Given the description of an element on the screen output the (x, y) to click on. 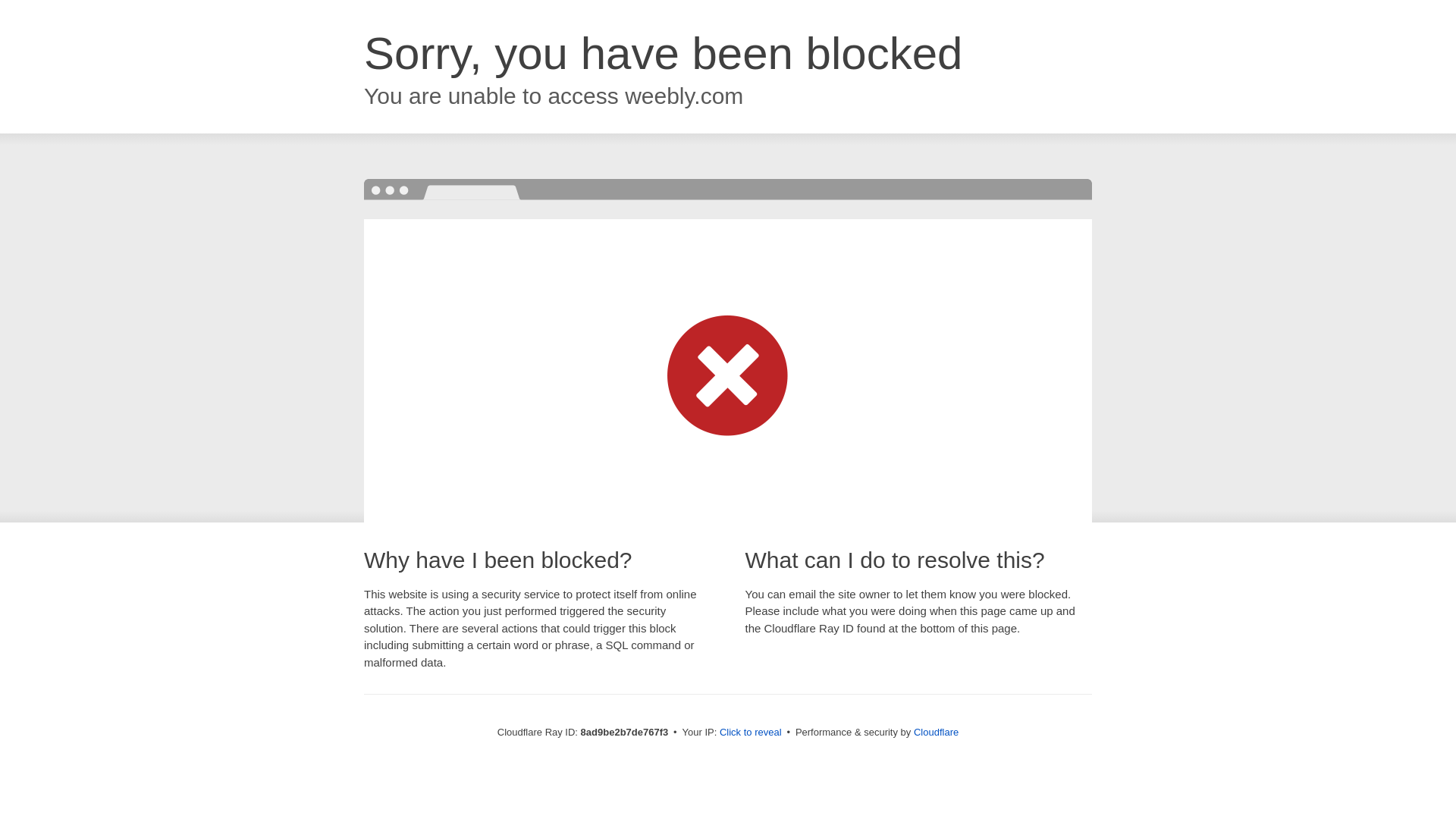
Cloudflare (936, 731)
Click to reveal (750, 732)
